Given the description of an element on the screen output the (x, y) to click on. 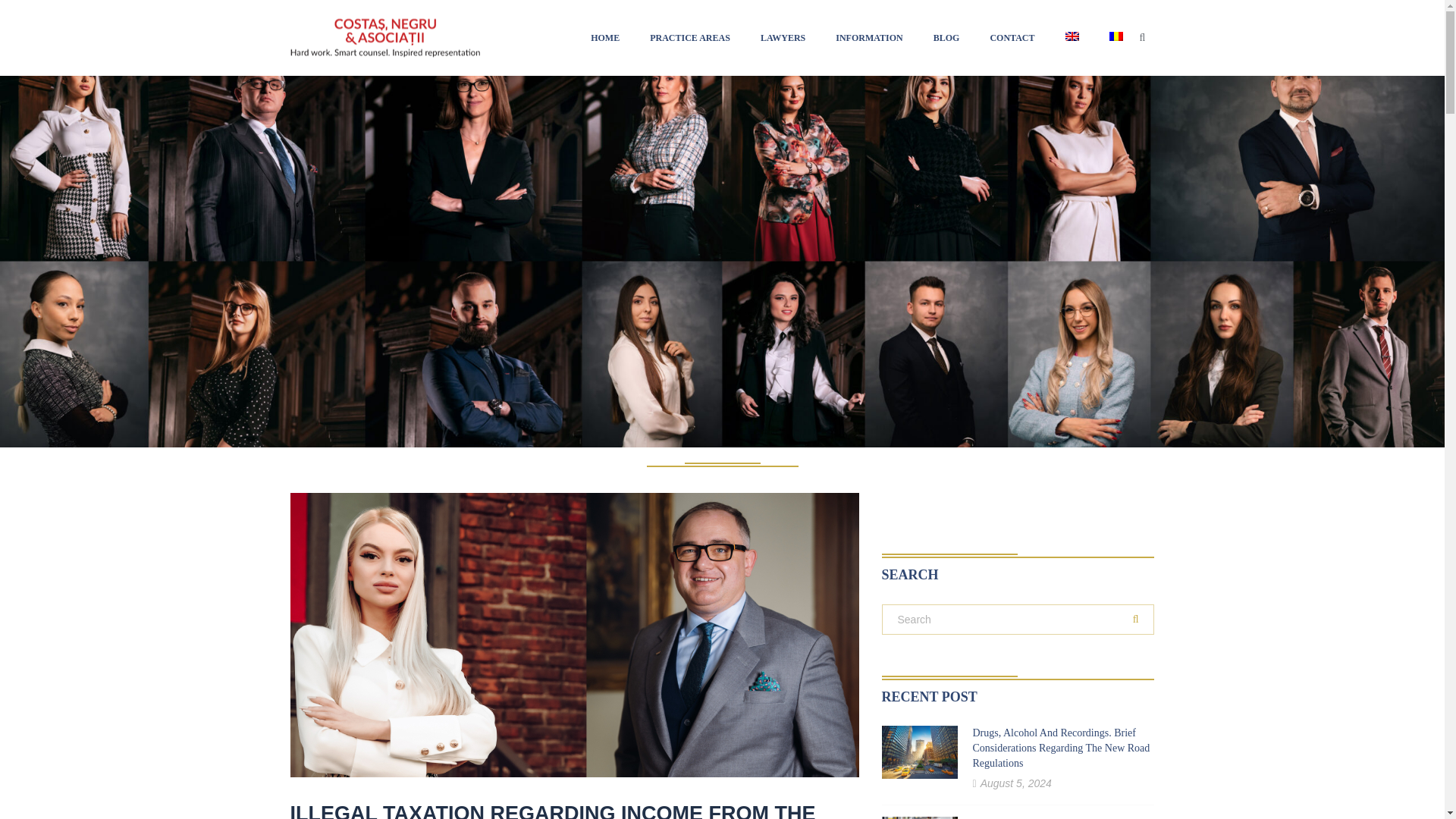
PRACTICE AREAS (689, 38)
INFORMATION (869, 38)
LAWYERS (783, 38)
CONTACT (1011, 38)
